Given the description of an element on the screen output the (x, y) to click on. 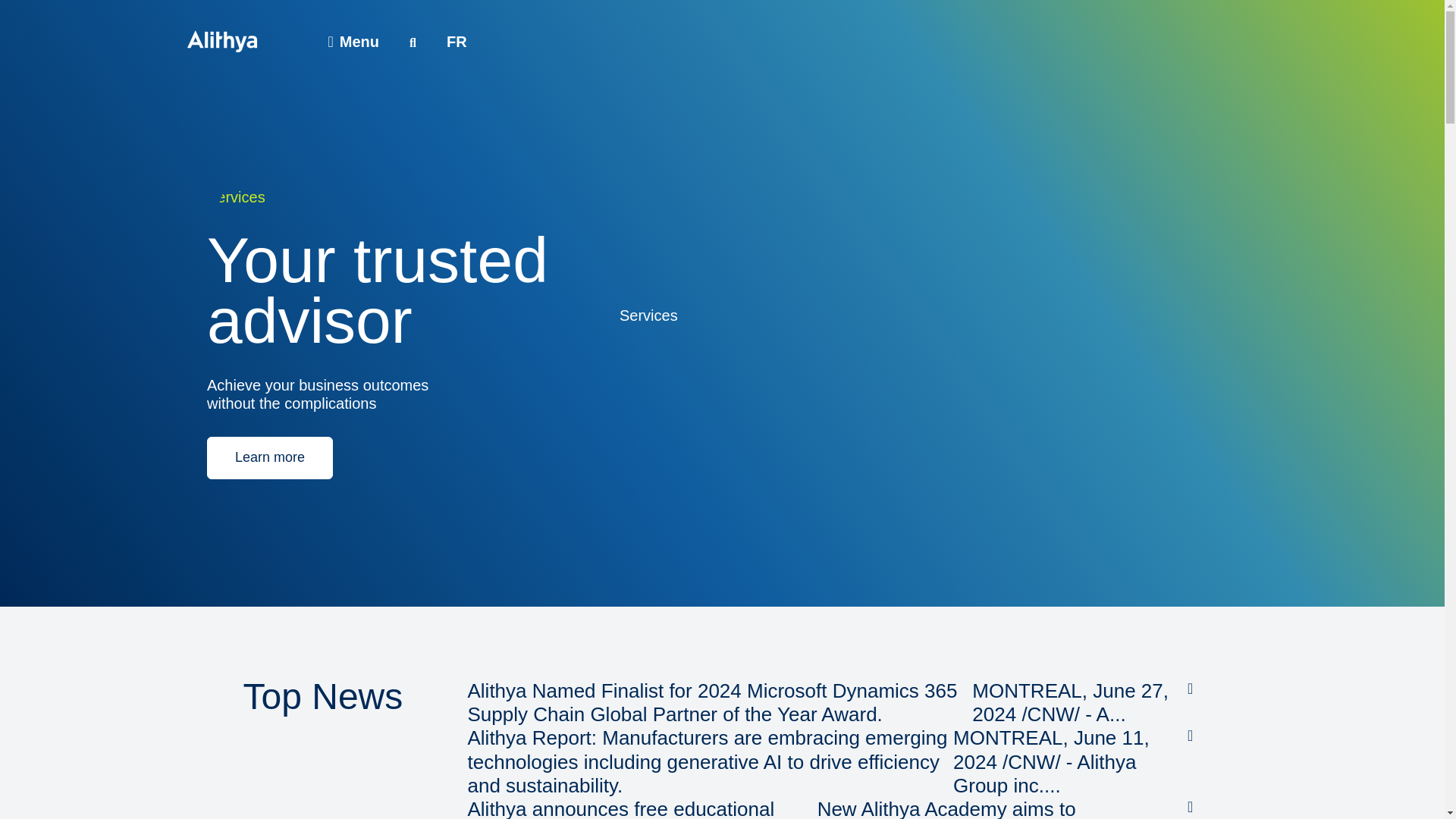
FR (456, 41)
Menu (352, 40)
